Given the description of an element on the screen output the (x, y) to click on. 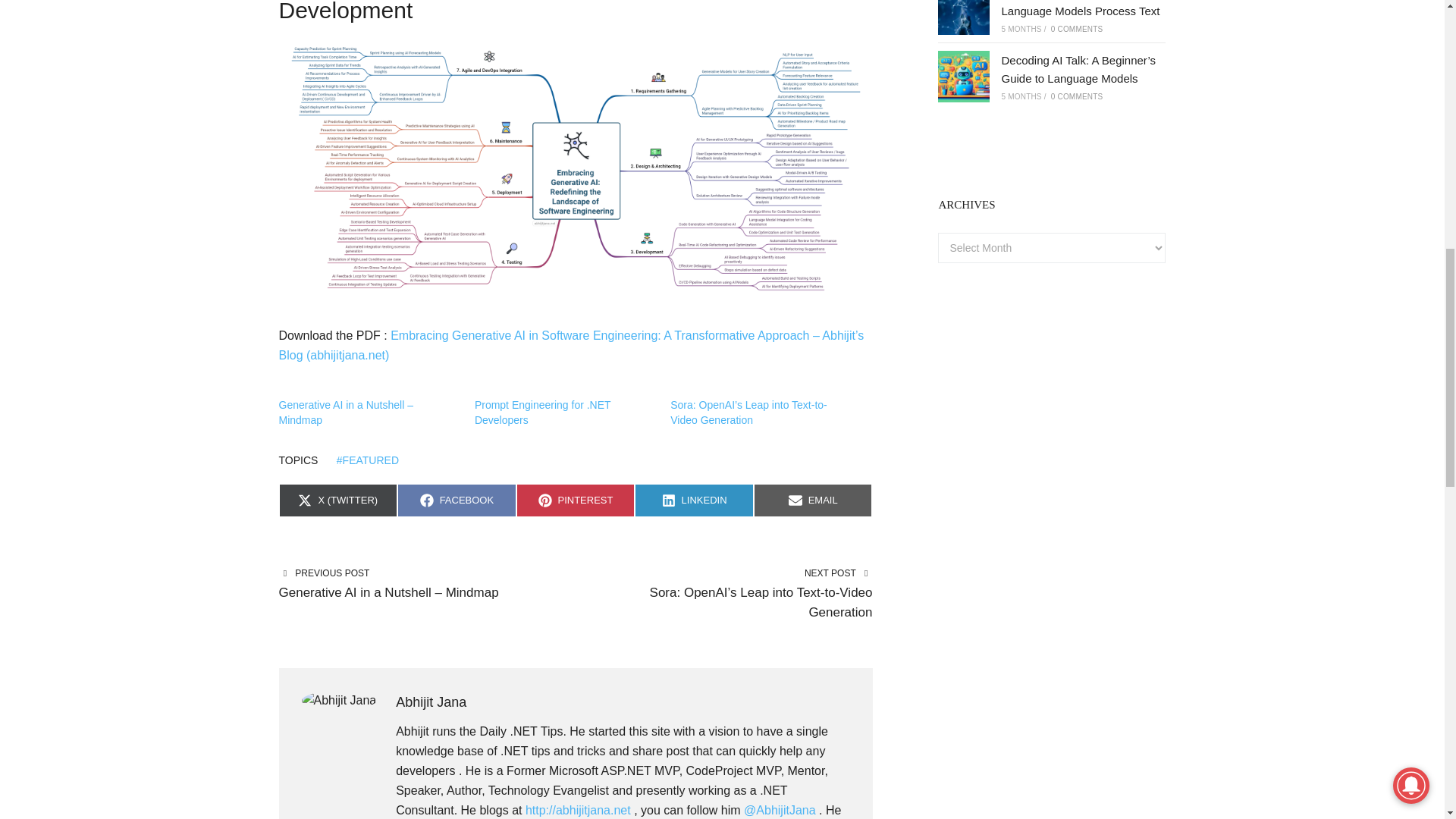
From Input to Output: How AI Language Models Process Text (963, 17)
Prompt Engineering for .NET Developers (542, 411)
From Input to Output: How AI Language Models Process Text (1079, 8)
